Given the description of an element on the screen output the (x, y) to click on. 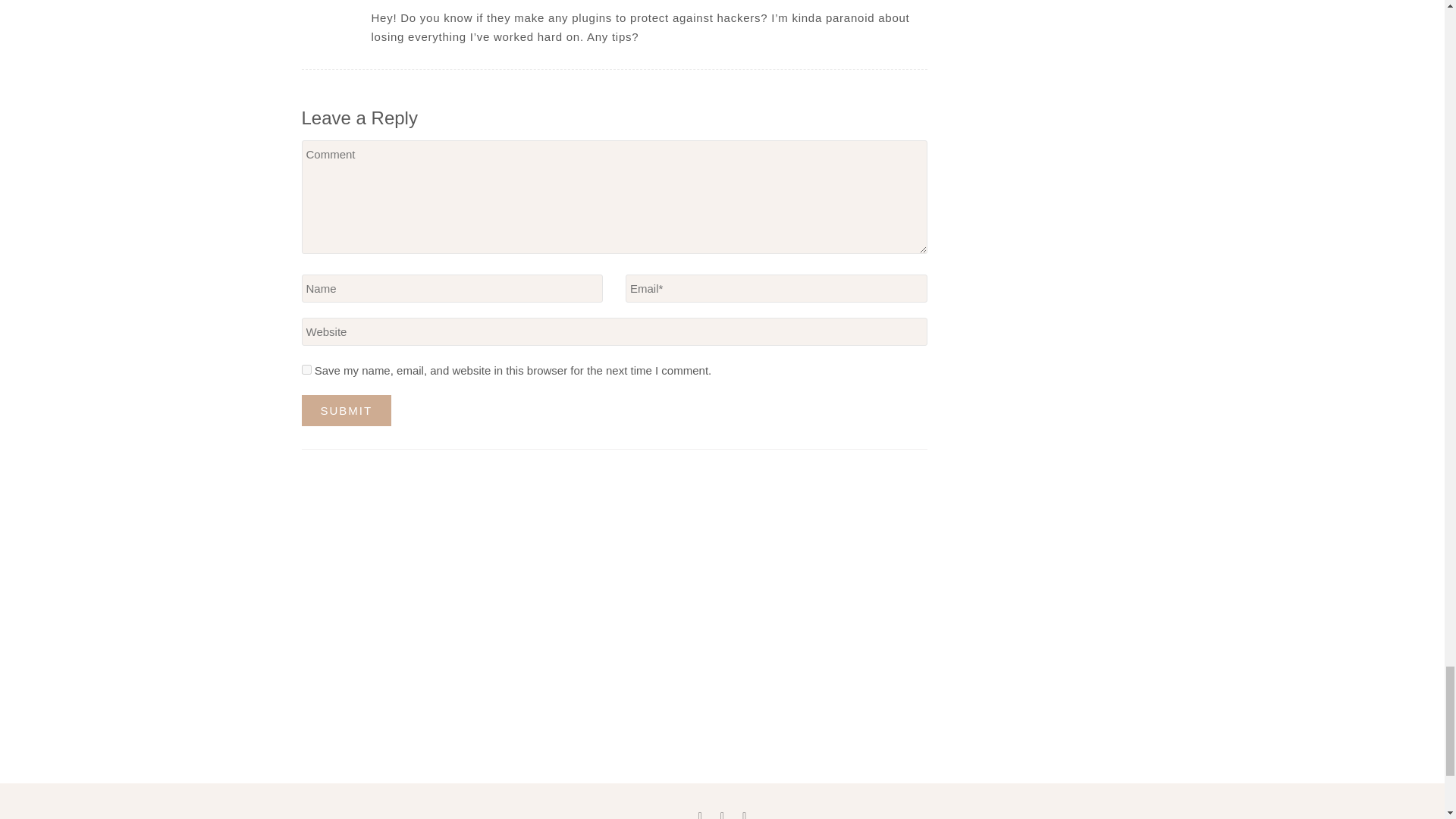
yes (306, 369)
Submit (346, 409)
